Given the description of an element on the screen output the (x, y) to click on. 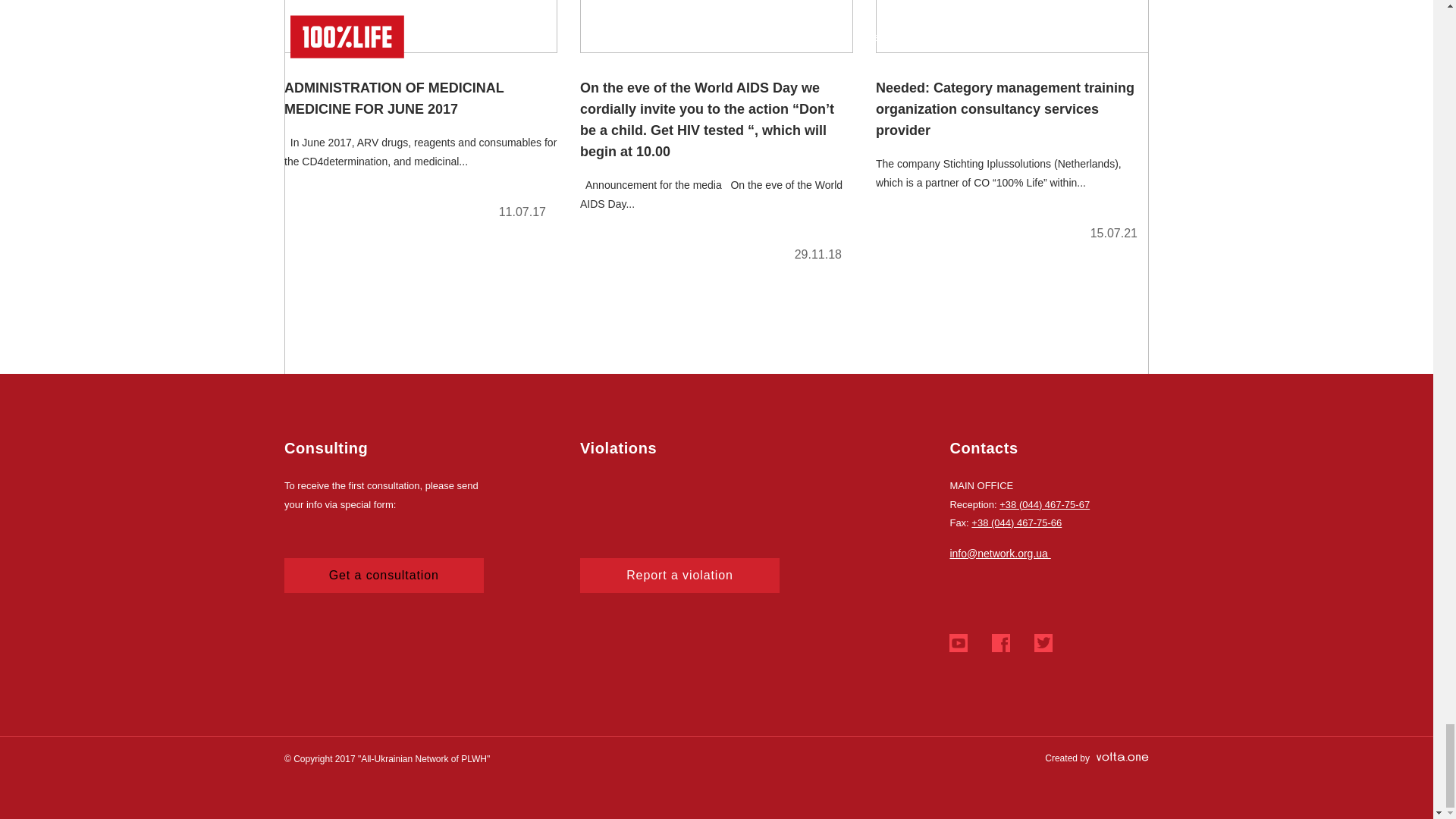
ADMINISTRATION OF MEDICINAL MEDICINE FOR JUNE 2017 (420, 116)
Created by (1096, 757)
Get a consultation (383, 574)
Report a violation (678, 574)
Get a consultation (383, 574)
Report a violation (678, 574)
